Given the description of an element on the screen output the (x, y) to click on. 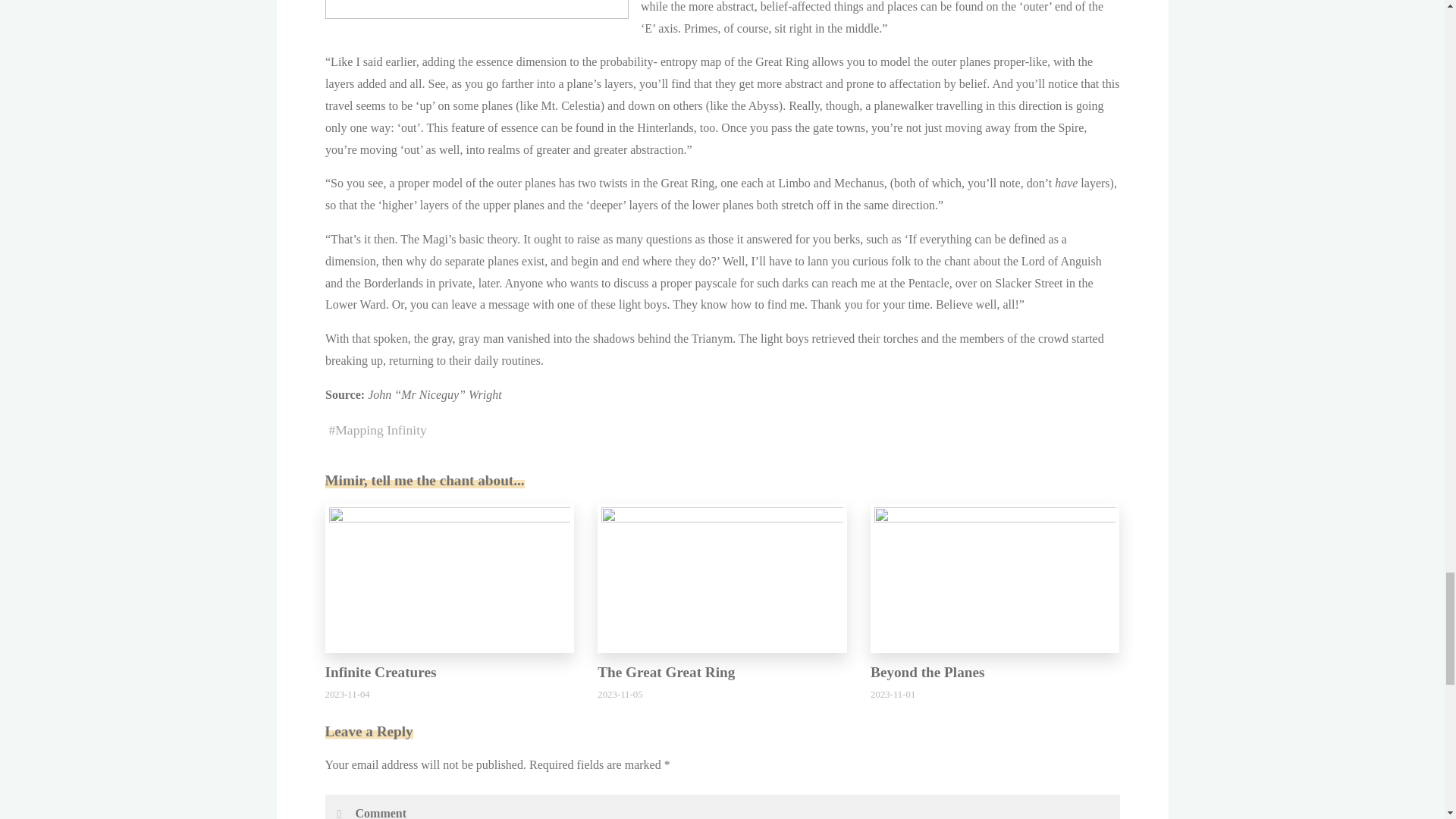
Infinite Creatures (449, 576)
Beyond the Planes (995, 576)
Beyond the Planes (927, 672)
The Great Great Ring (722, 576)
Infinite Creatures (379, 672)
The Great Great Ring (665, 672)
